Given the description of an element on the screen output the (x, y) to click on. 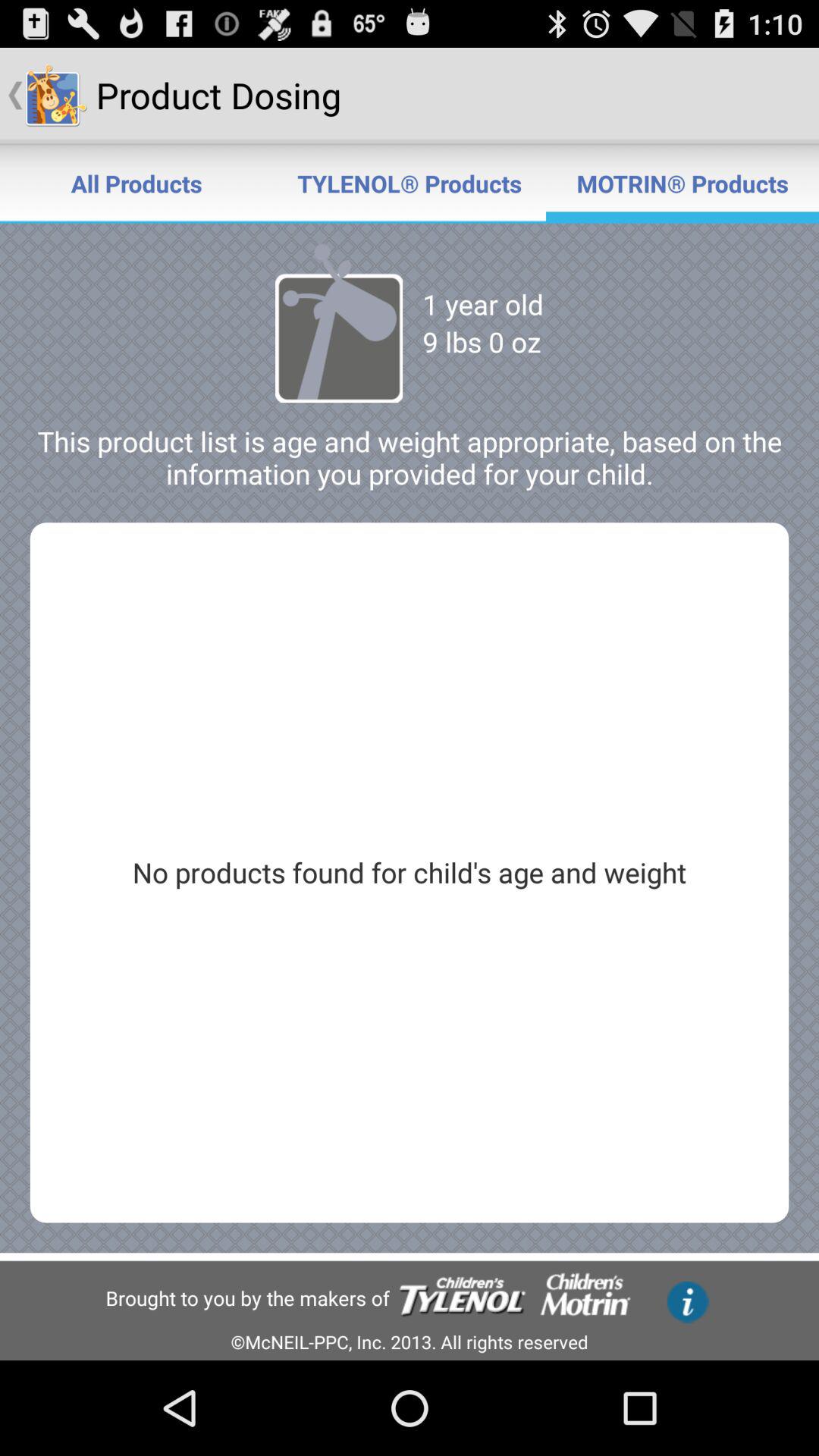
turn on the icon next to all products item (409, 183)
